Given the description of an element on the screen output the (x, y) to click on. 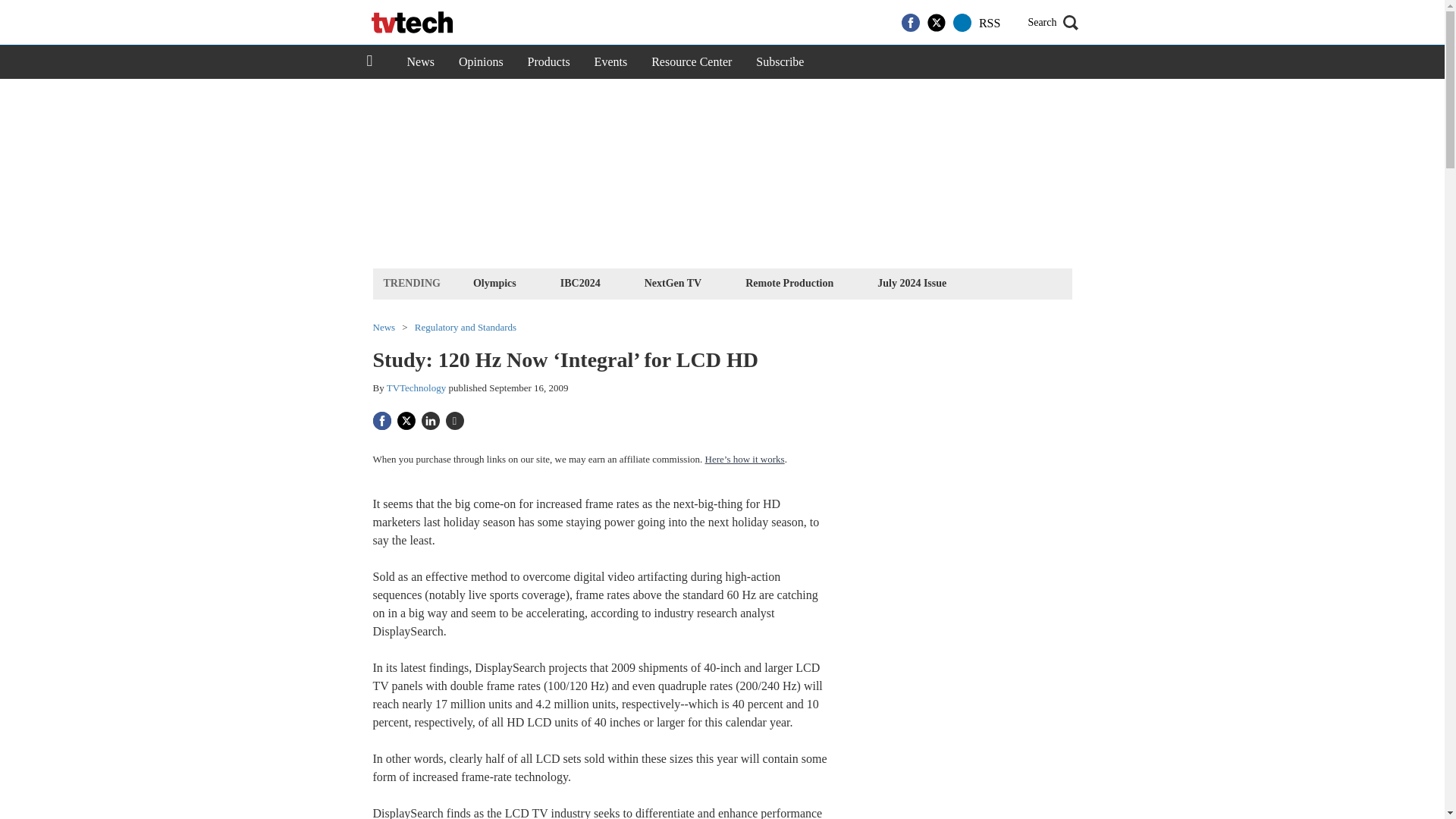
Olympics (494, 282)
Subscribe (779, 61)
Regulatory and Standards (465, 327)
Resource Center (691, 61)
Opinions (480, 61)
Products (548, 61)
NextGen TV (673, 282)
Remote Production (788, 282)
Events (611, 61)
IBC2024 (579, 282)
News (419, 61)
July 2024 Issue (912, 282)
RSS (989, 22)
TVTechnology (416, 387)
